Given the description of an element on the screen output the (x, y) to click on. 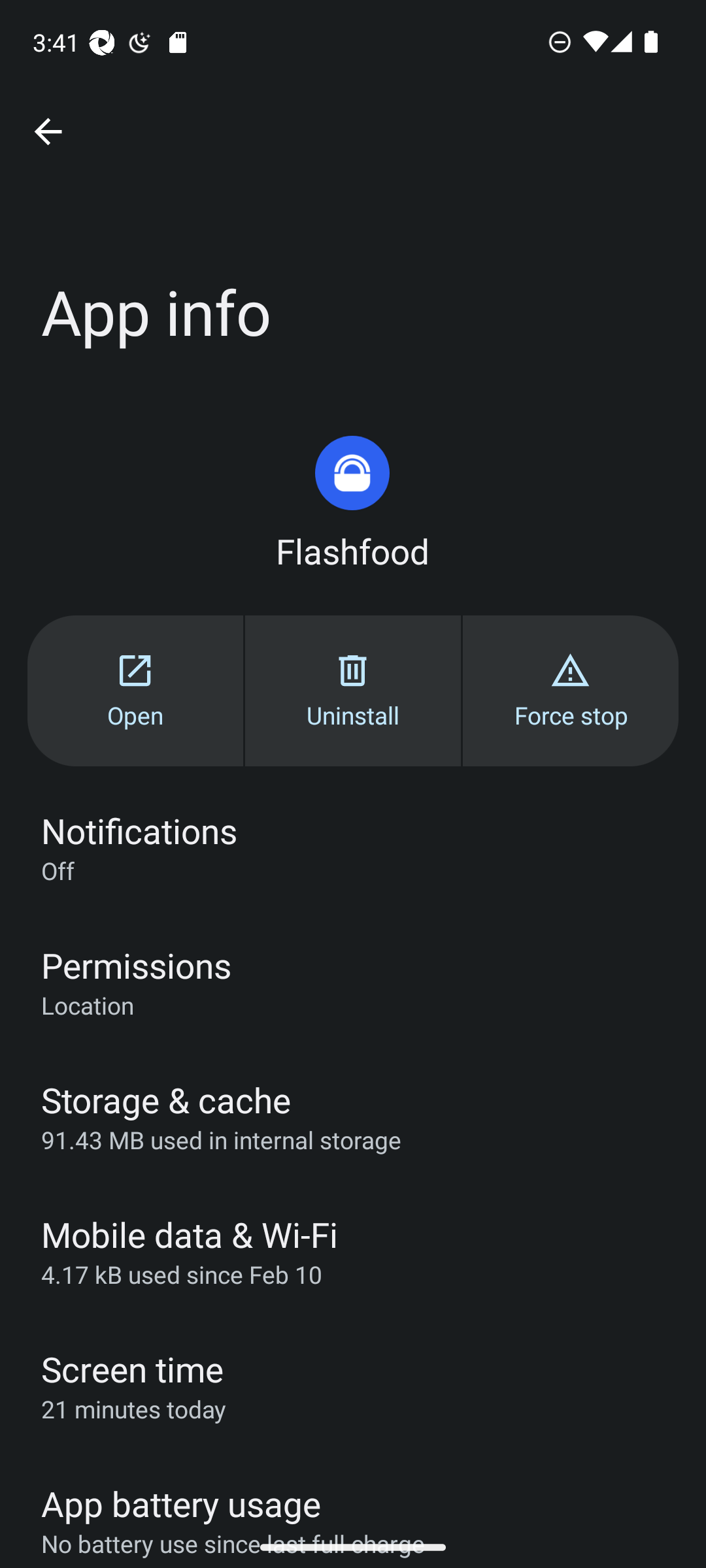
Navigate up (48, 131)
Open (134, 690)
Uninstall (352, 690)
Force stop (570, 690)
Notifications Off (353, 847)
Permissions Location (353, 981)
Storage & cache 91.43 MB used in internal storage (353, 1115)
Mobile data & Wi‑Fi 4.17 kB used since Feb 10 (353, 1250)
Screen time 21 minutes today (353, 1385)
App battery usage (353, 1490)
